Given the description of an element on the screen output the (x, y) to click on. 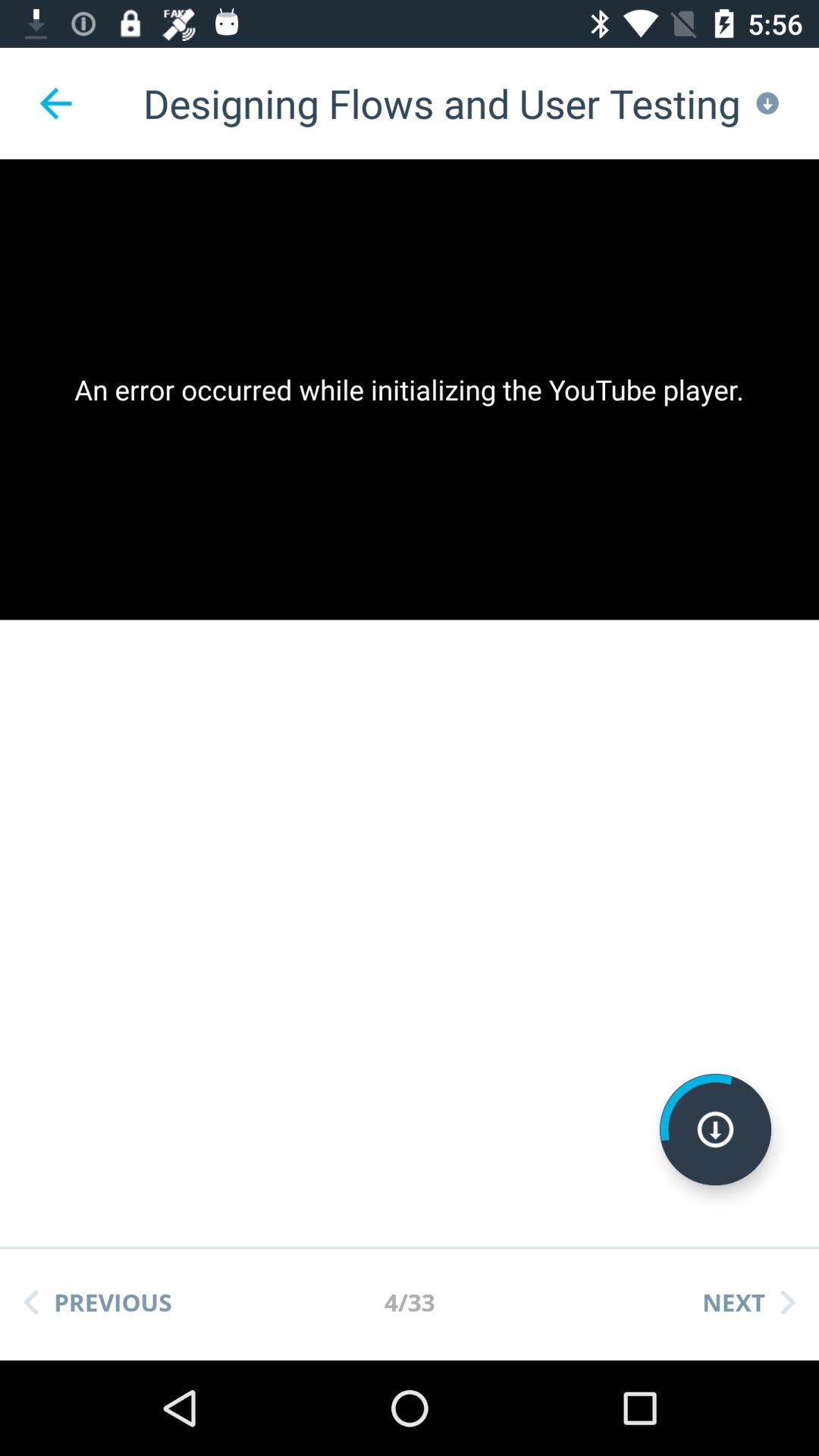
launch icon to the right of 4/33 icon (748, 1302)
